Given the description of an element on the screen output the (x, y) to click on. 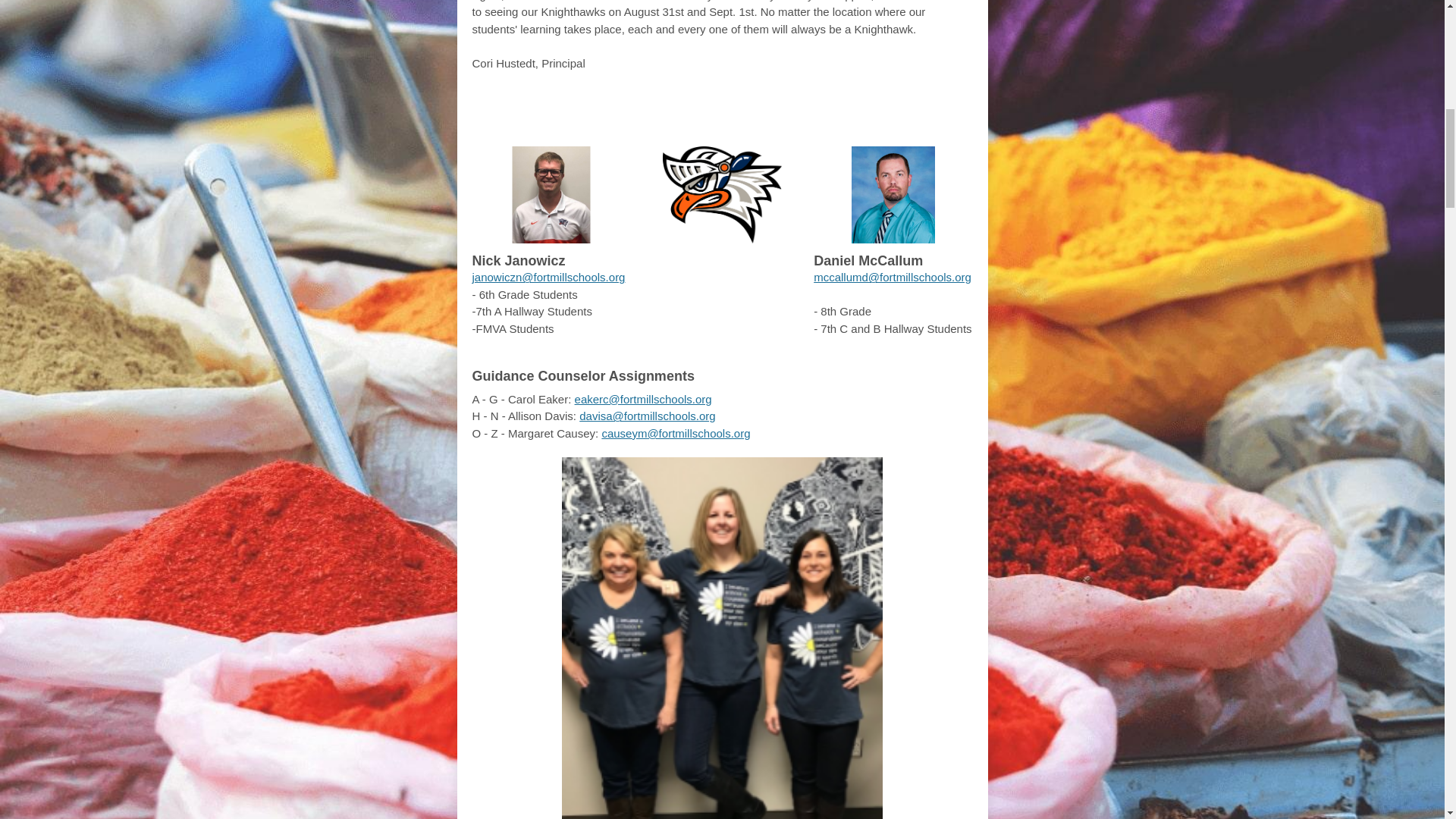
Administration (762, 105)
Team (870, 105)
School (647, 105)
PKMS (579, 105)
